Given the description of an element on the screen output the (x, y) to click on. 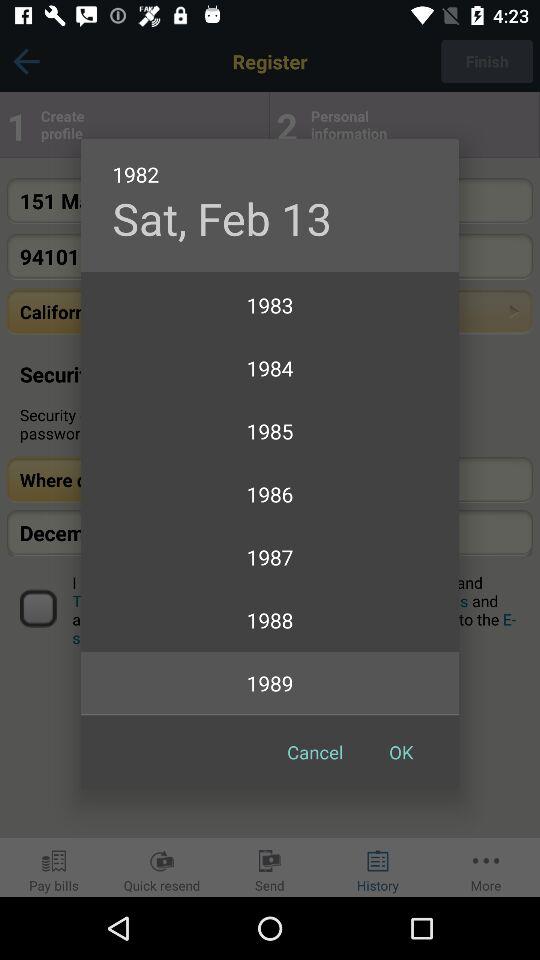
launch item to the left of the ok button (315, 751)
